Given the description of an element on the screen output the (x, y) to click on. 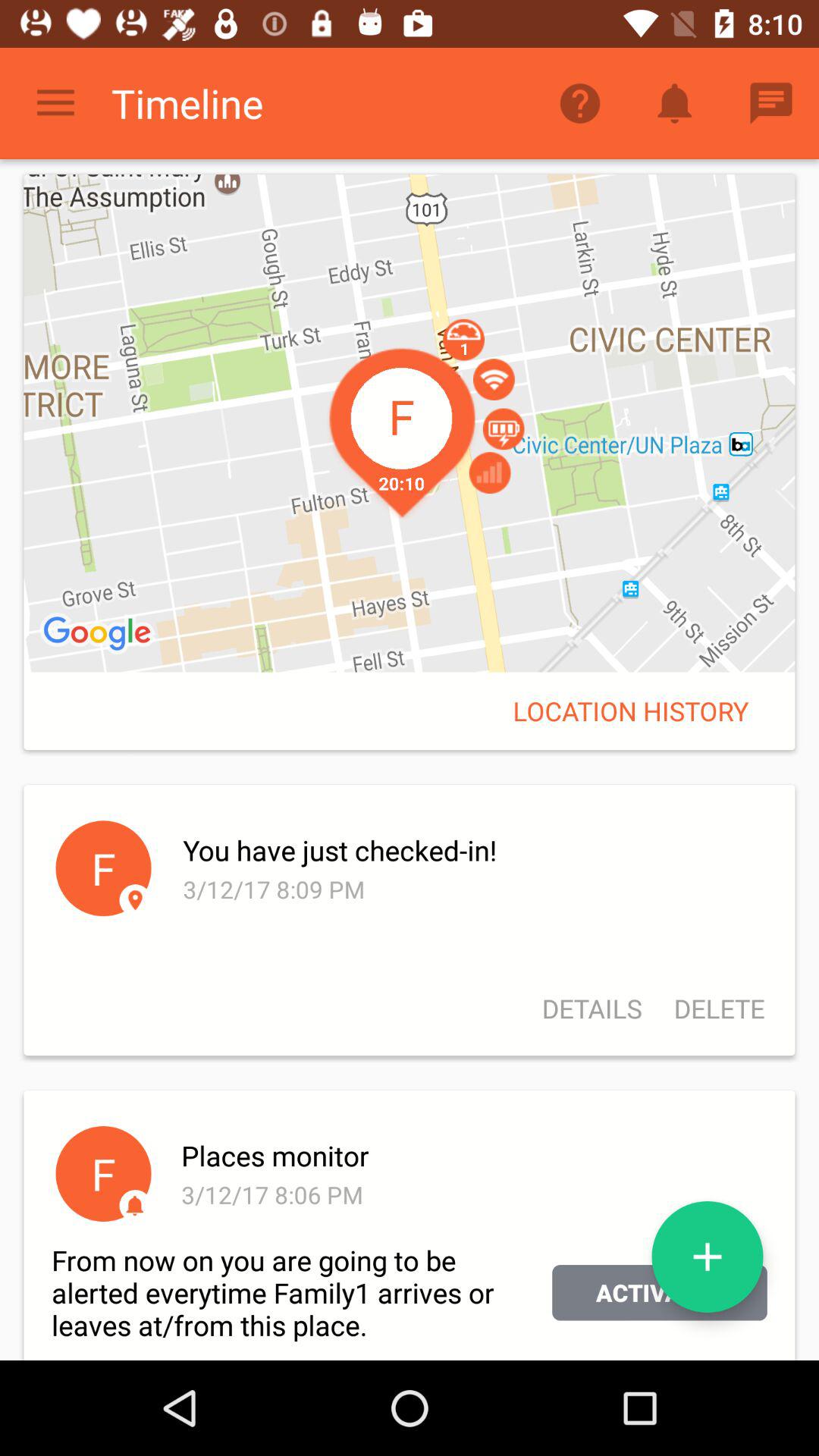
select the item next to timeline icon (55, 103)
